Given the description of an element on the screen output the (x, y) to click on. 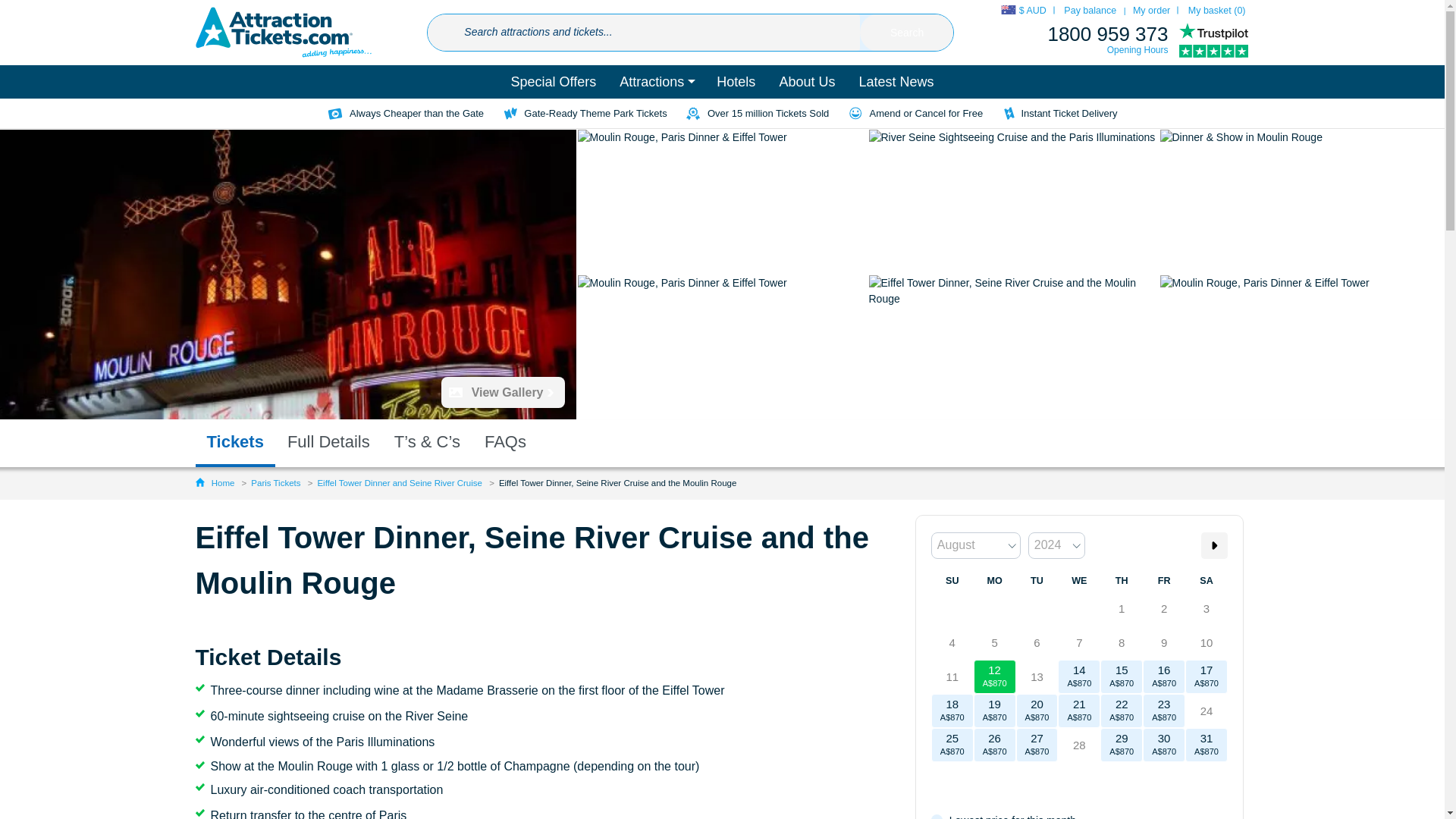
Attractions (656, 81)
Search (906, 32)
River Seine Sightseeing Cruise and the Paris Illuminations  (1013, 201)
1800 959 373 (1106, 34)
Search (906, 32)
Latest News (895, 81)
Special Offers (553, 81)
About Us (806, 81)
Search (906, 32)
Eiffel Tower Dinner, Seine River Cruise and the Moulin Rouge (1013, 347)
Hotels (735, 81)
